Given the description of an element on the screen output the (x, y) to click on. 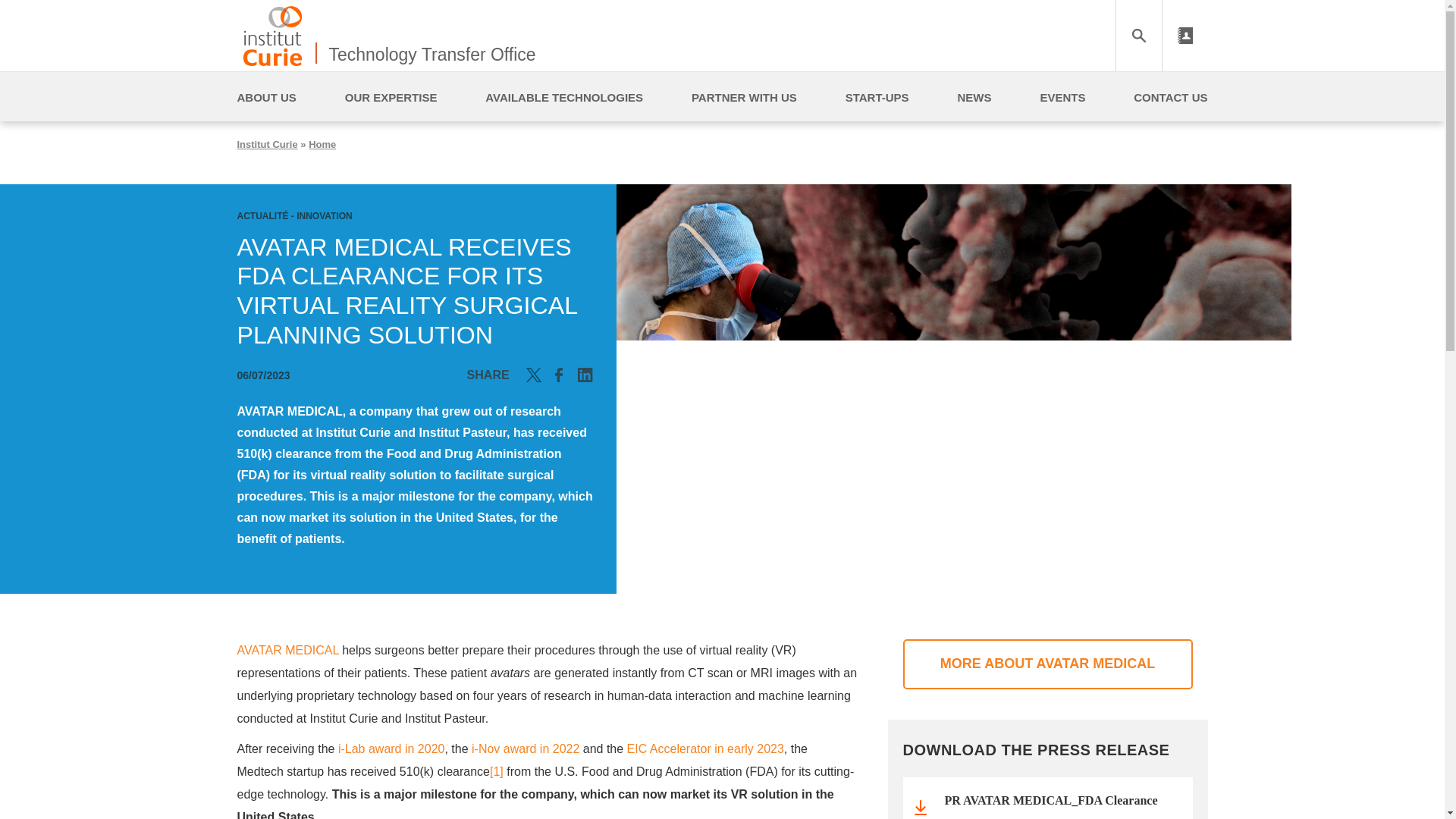
OUR EXPERTISE (391, 97)
Events (1061, 97)
Institut Curie (266, 143)
ABOUT US (265, 97)
PARTNER WITH US (743, 97)
Home (271, 35)
AVAILABLE TECHNOLOGIES (563, 97)
NEWS (973, 97)
CONTACT US (1170, 97)
START-UPS (876, 97)
